Given the description of an element on the screen output the (x, y) to click on. 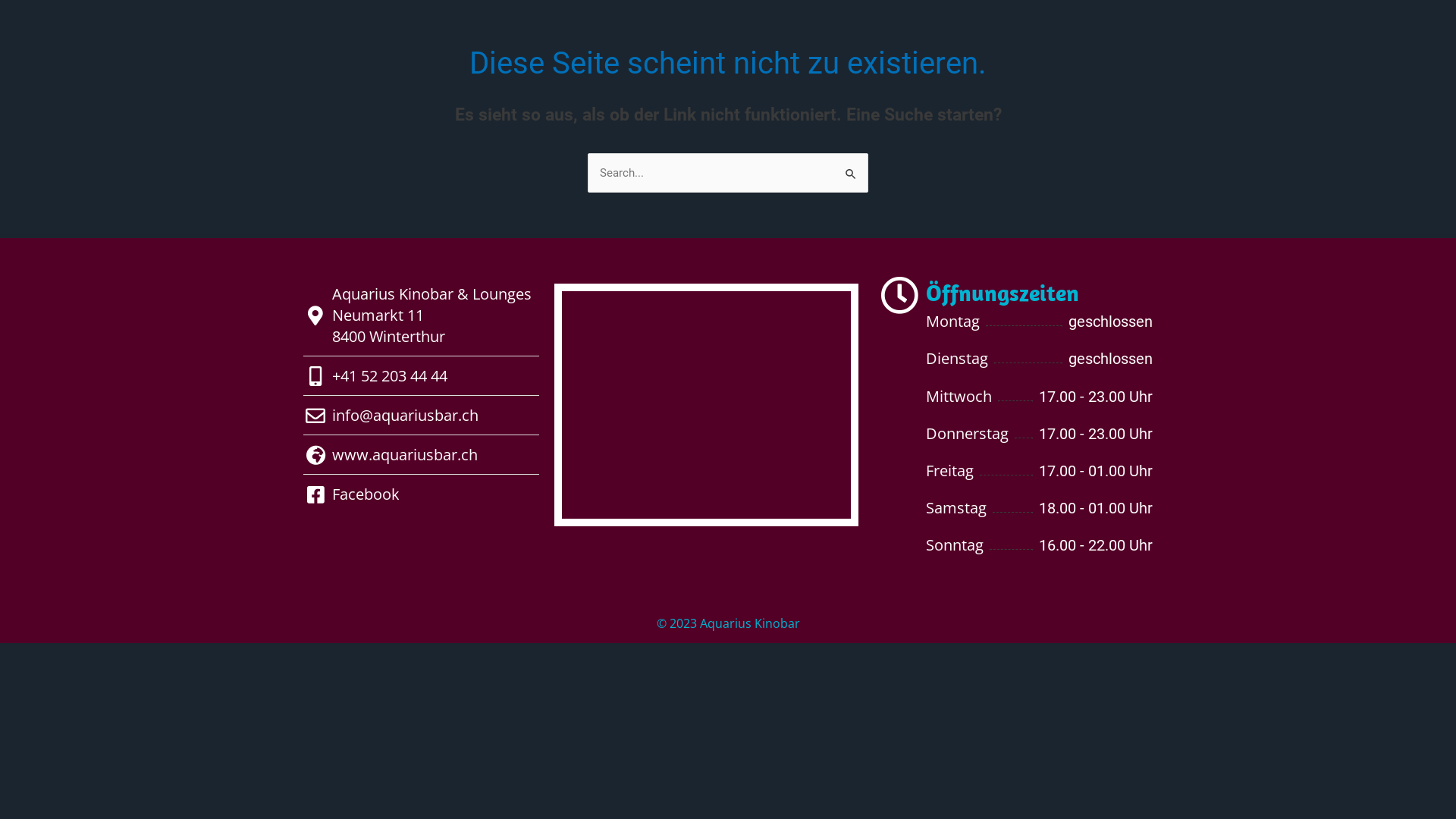
Aquarius Kinobar Element type: hover (706, 404)
Suche Element type: text (851, 168)
www.aquariusbar.ch Element type: text (421, 454)
info@aquariusbar.ch Element type: text (421, 415)
Facebook Element type: text (421, 494)
+41 52 203 44 44 Element type: text (421, 375)
